Given the description of an element on the screen output the (x, y) to click on. 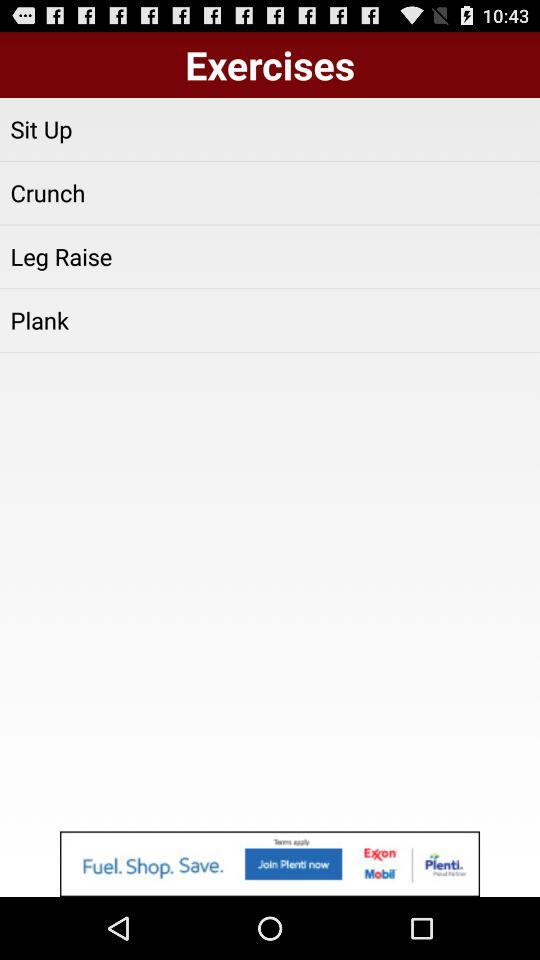
advertisement (270, 864)
